Given the description of an element on the screen output the (x, y) to click on. 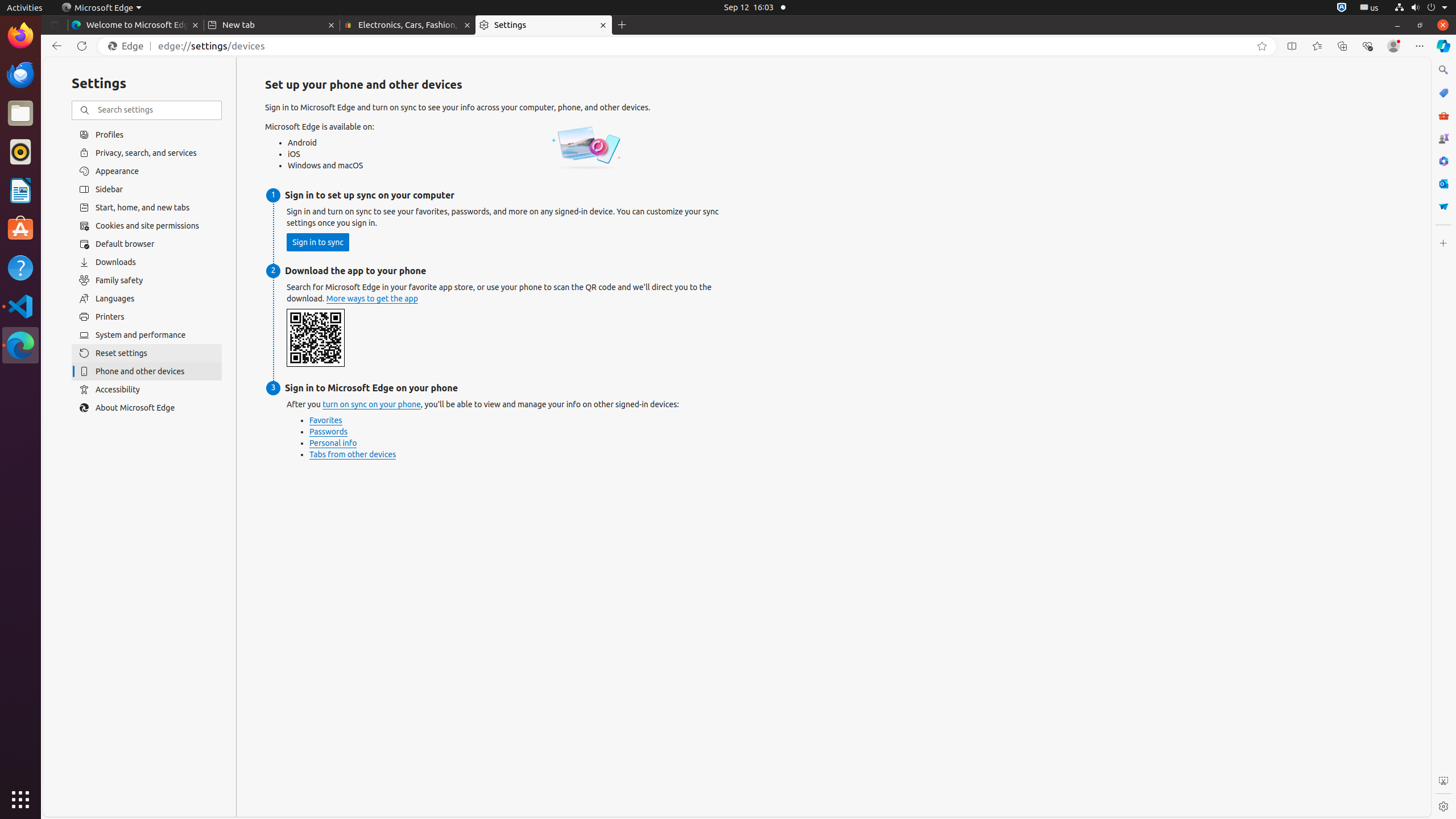
Sidebar Element type: tree-item (146, 189)
Sign in to sync Element type: push-button (317, 242)
Accessibility Element type: tree-item (146, 389)
Tab actions menu Element type: push-button (54, 24)
Settings Element type: push-button (1443, 806)
